Given the description of an element on the screen output the (x, y) to click on. 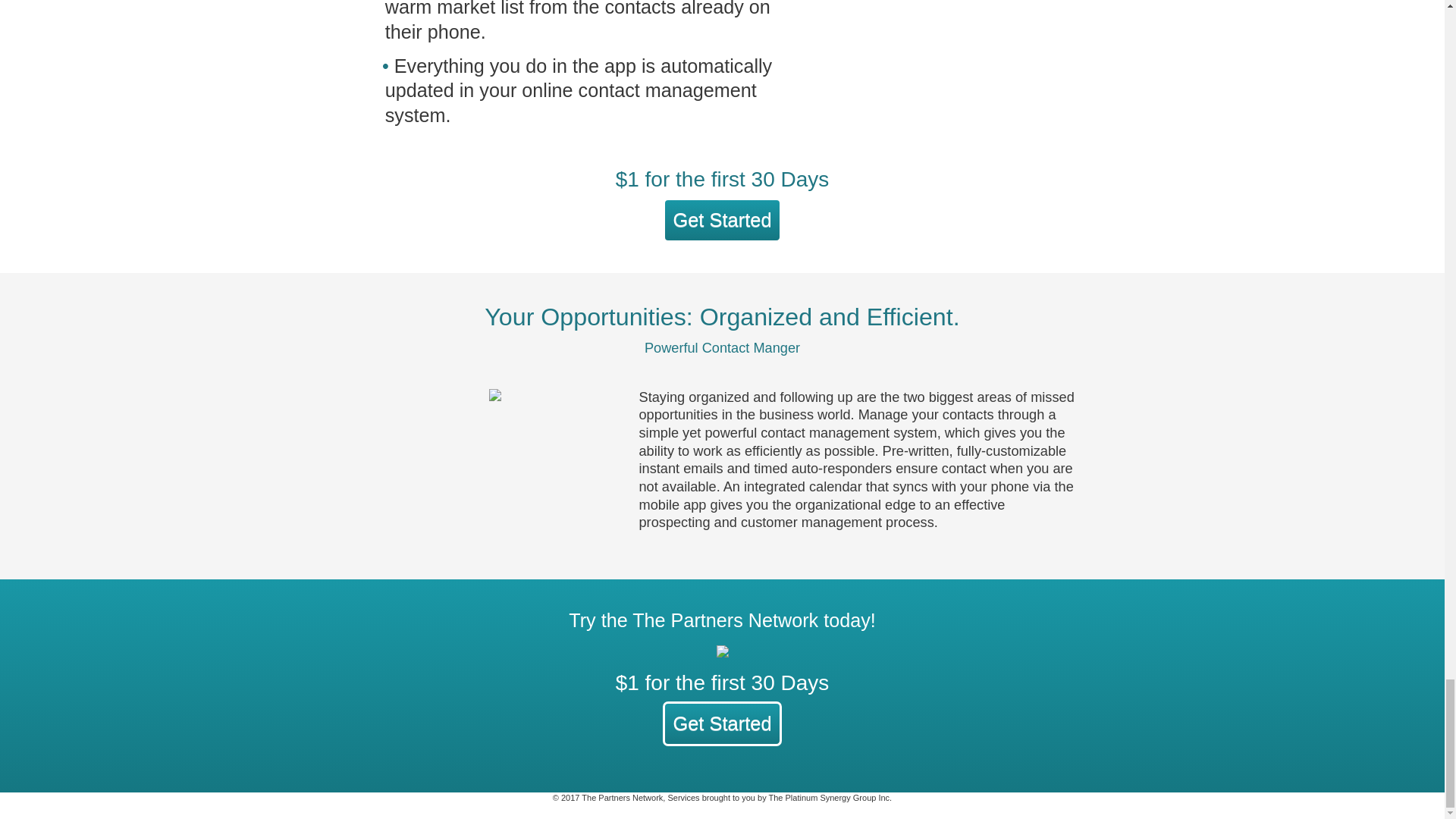
Get Started (721, 723)
Get Started (721, 222)
Get Started (721, 220)
Get Started (721, 725)
